Given the description of an element on the screen output the (x, y) to click on. 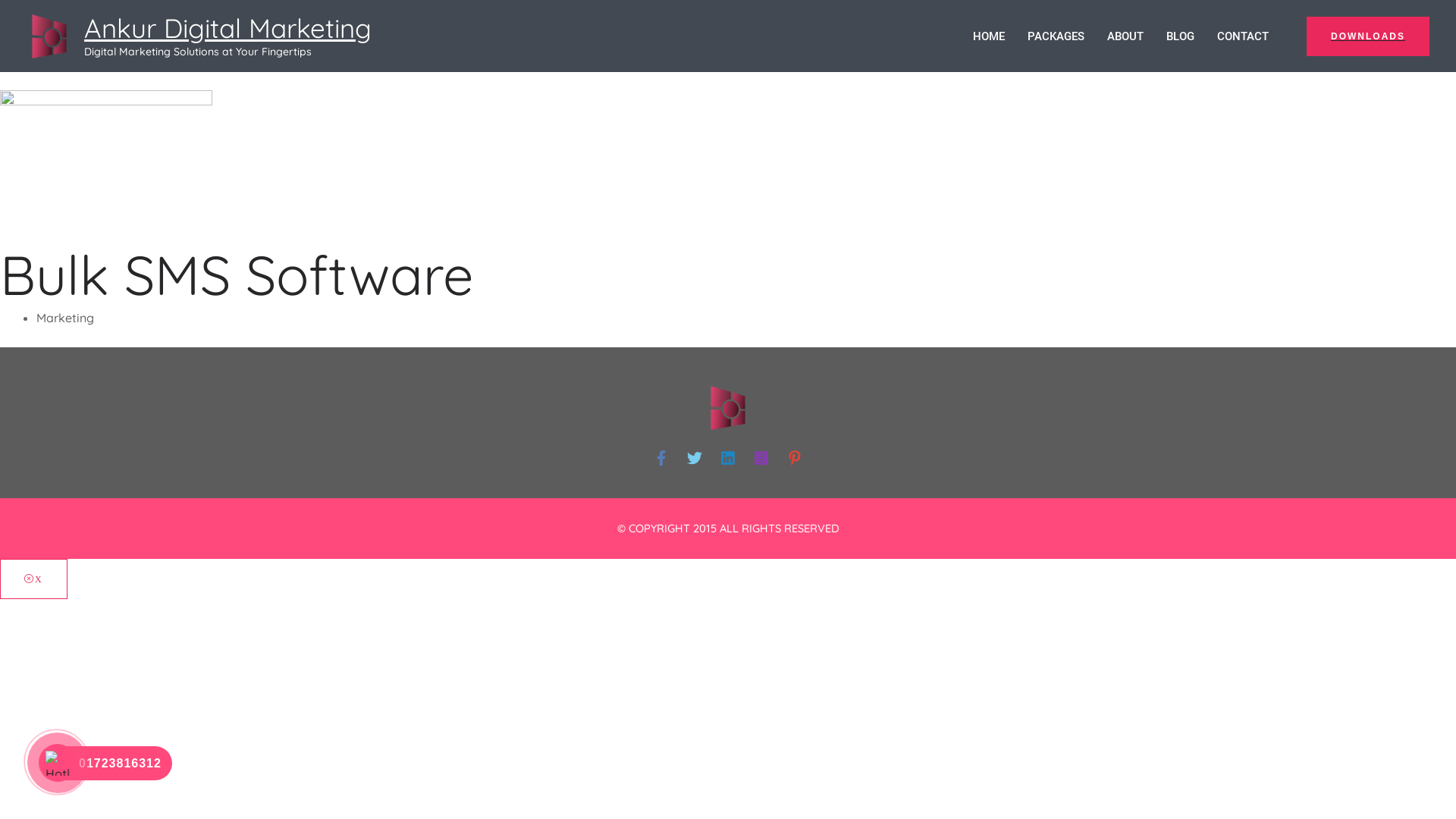
ABOUT Element type: text (1136, 35)
Ankur Digital Marketing Element type: text (227, 27)
DOWNLOADS Element type: text (1367, 36)
BLOG Element type: text (1191, 35)
CONTACT Element type: text (1254, 35)
HOME Element type: text (999, 35)
PACKAGES Element type: text (1067, 35)
01723816312 Element type: text (109, 763)
X Element type: text (33, 578)
